Given the description of an element on the screen output the (x, y) to click on. 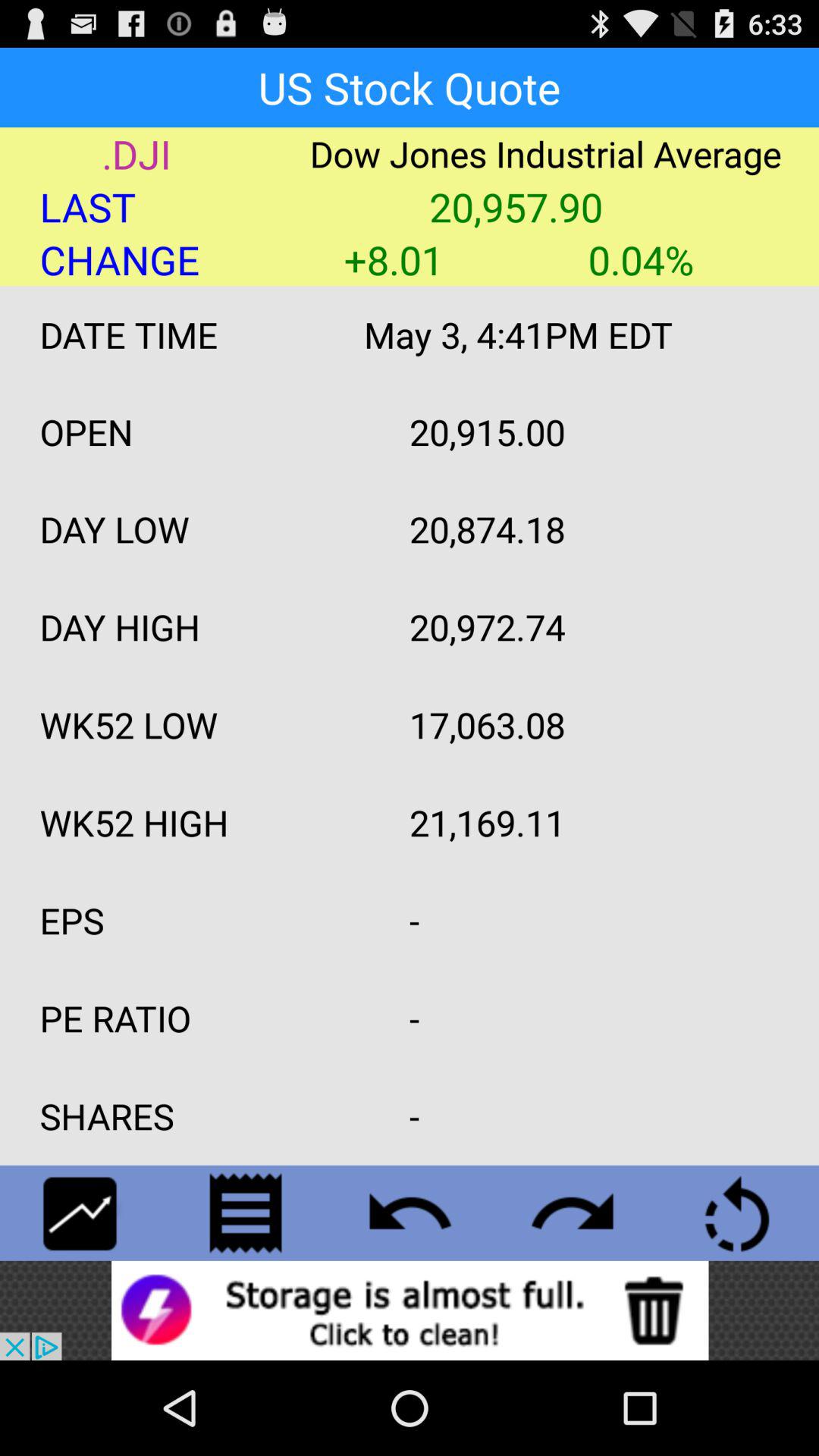
advertisement about storage (409, 1310)
